Given the description of an element on the screen output the (x, y) to click on. 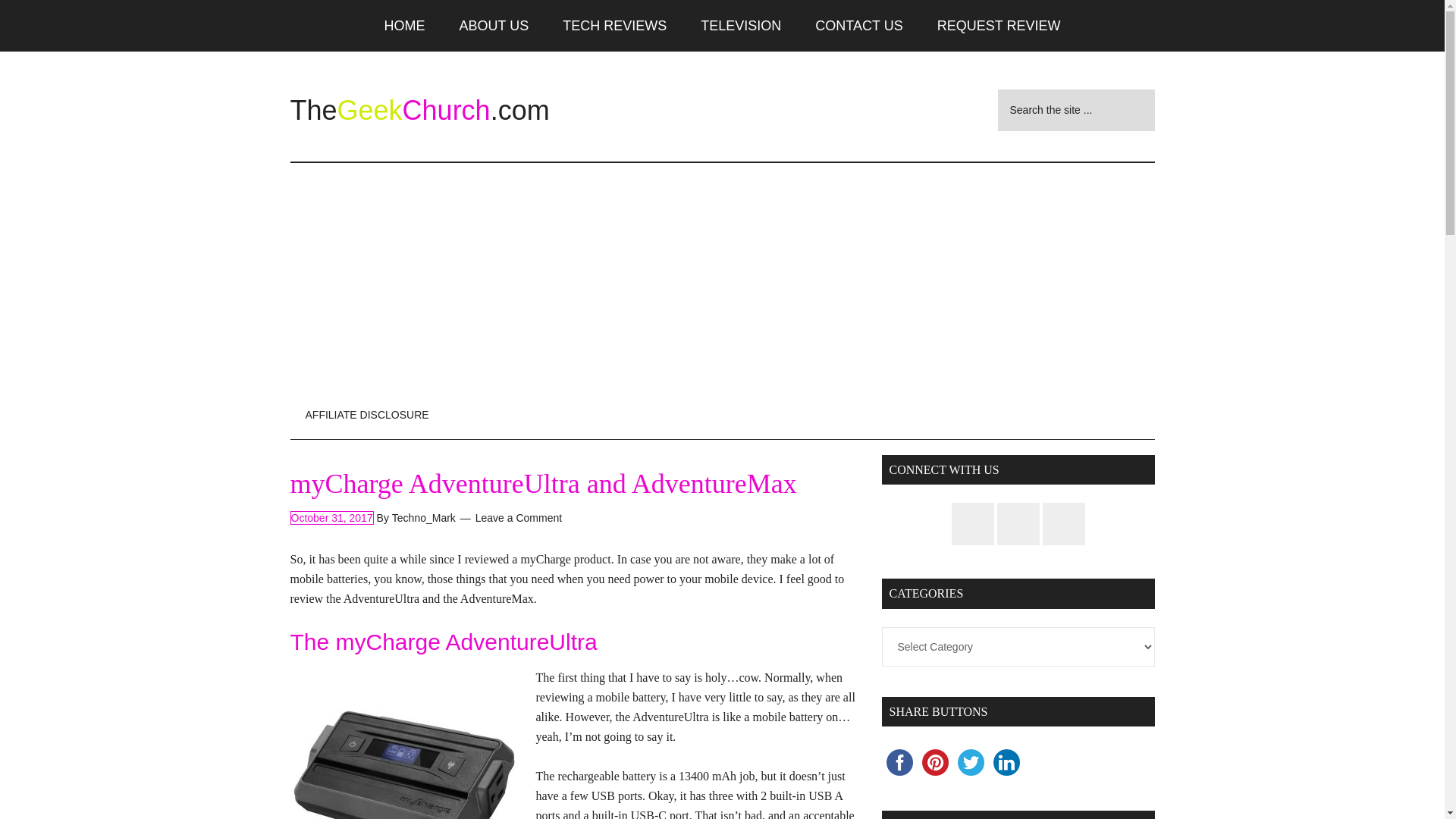
twitter (970, 762)
TECH REVIEWS (614, 25)
ABOUT US (494, 25)
facebook (898, 762)
linkedin (1006, 762)
TELEVISION (740, 25)
